Given the description of an element on the screen output the (x, y) to click on. 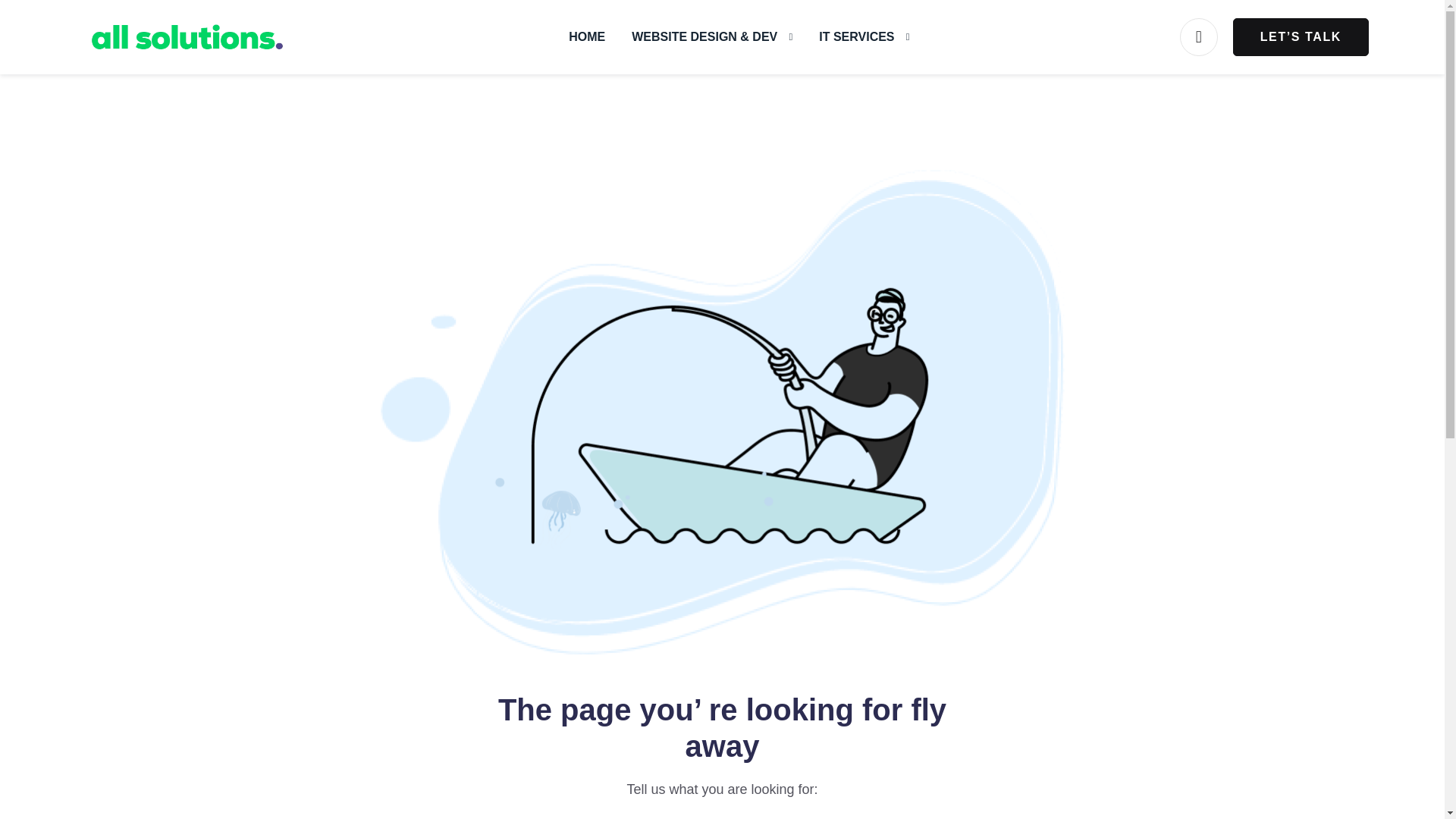
HOME (587, 36)
IT SERVICES (863, 36)
Home (587, 36)
IT Services (863, 36)
